Given the description of an element on the screen output the (x, y) to click on. 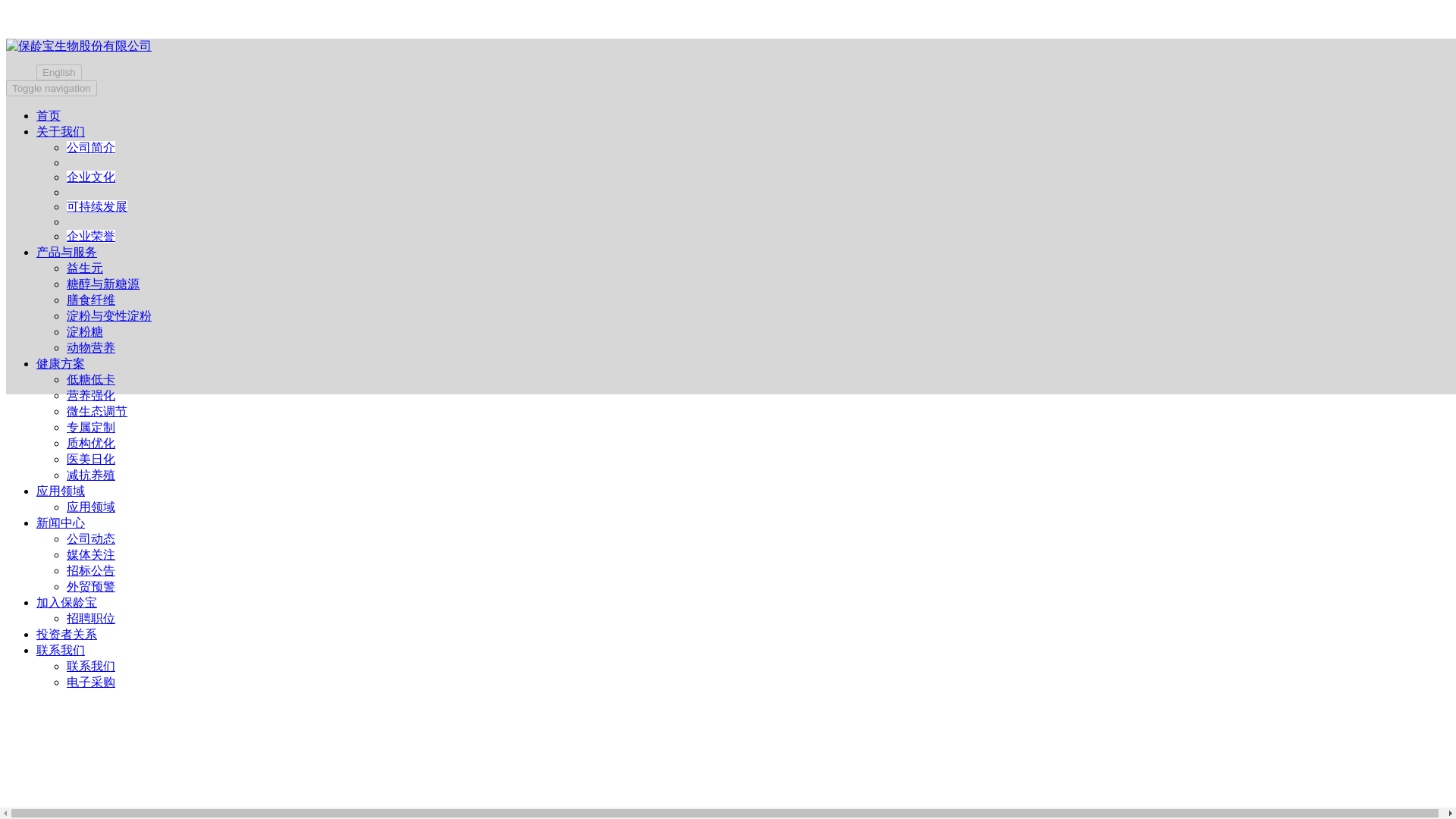
Toggle navigation (51, 88)
English (58, 72)
English (43, 71)
